Given the description of an element on the screen output the (x, y) to click on. 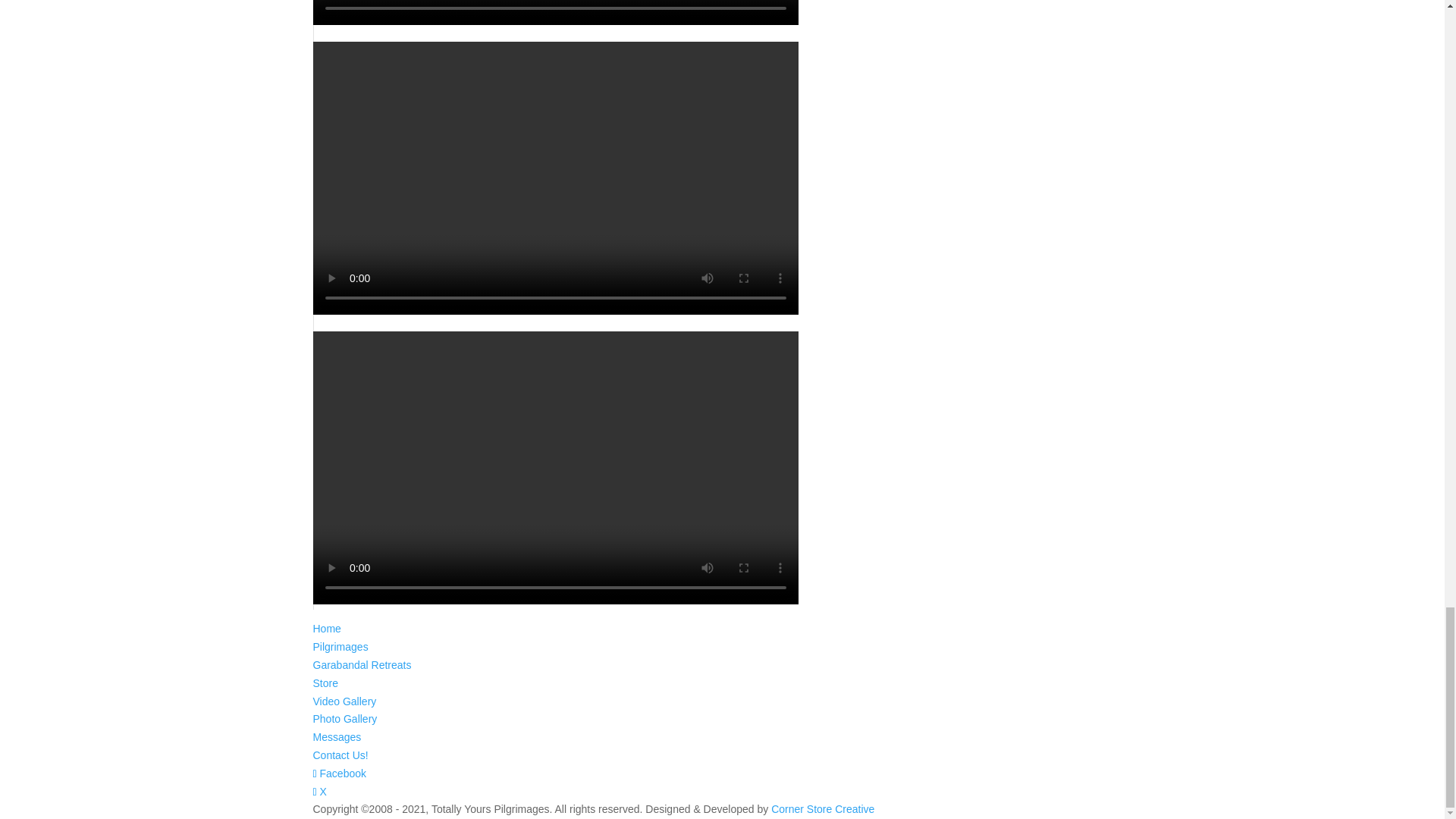
Video Gallery (344, 701)
Messages (337, 736)
Store (325, 683)
Pilgrimages (340, 646)
Photo Gallery (345, 718)
Home (326, 628)
Garabandal Retreats (361, 664)
